Given the description of an element on the screen output the (x, y) to click on. 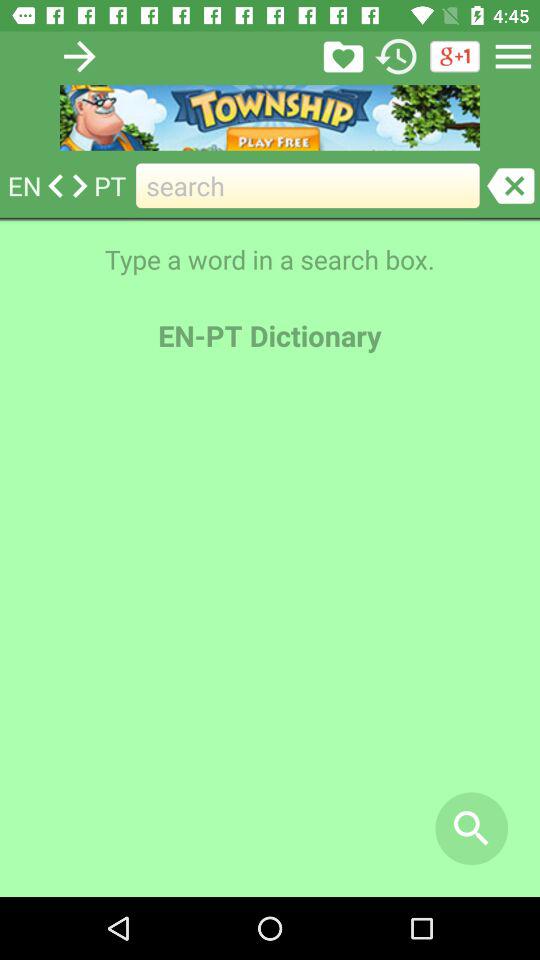
advertisement banner (270, 117)
